Given the description of an element on the screen output the (x, y) to click on. 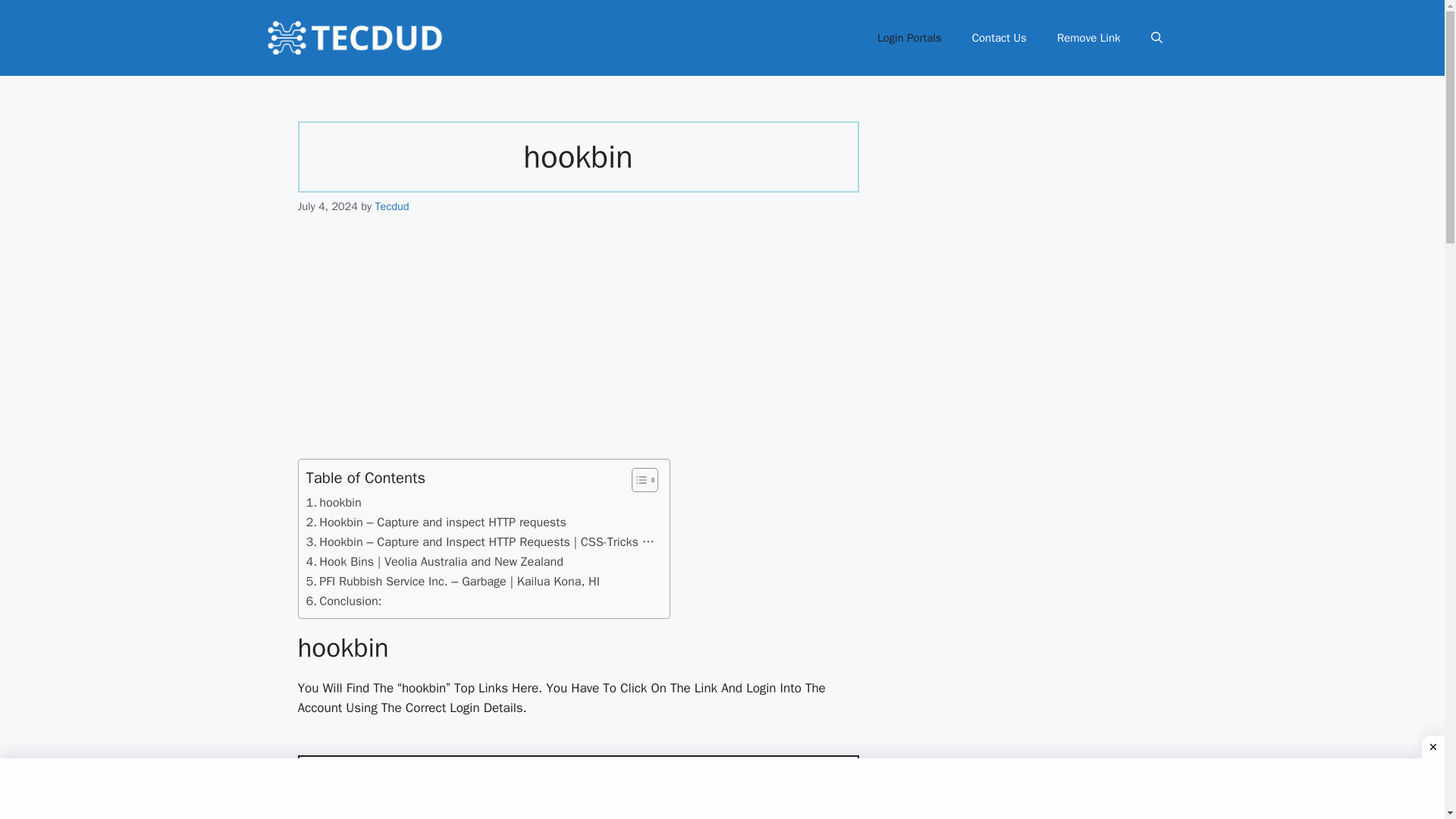
Conclusion: (343, 600)
Hookbin - Capture and inspect HTTP requests (577, 795)
hookbin (333, 502)
Login Portals (908, 37)
Remove Link (1088, 37)
Advertisement (578, 346)
Tecdud (391, 205)
Conclusion: (343, 600)
View all posts by Tecdud (391, 205)
hookbin (333, 502)
